Given the description of an element on the screen output the (x, y) to click on. 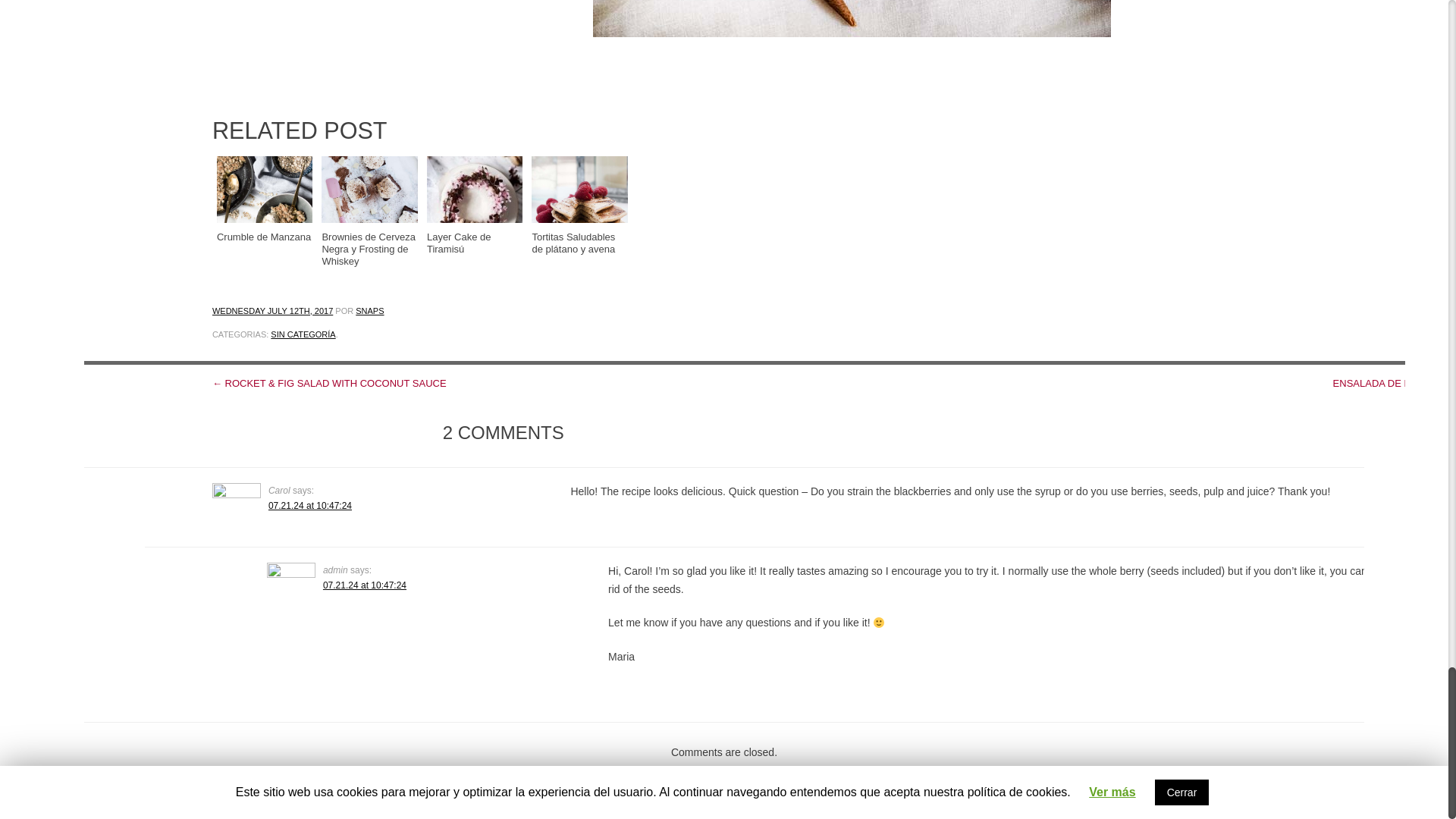
07.21.24 at 10:47:24 (309, 505)
07.21.24 at 10:47:24 (364, 584)
WEDNESDAY JULY 12TH, 2017 (272, 310)
SNAPS (369, 310)
View all posts by snaps (369, 310)
Crumble de Manzana (264, 199)
08:00 AM (272, 310)
